Given the description of an element on the screen output the (x, y) to click on. 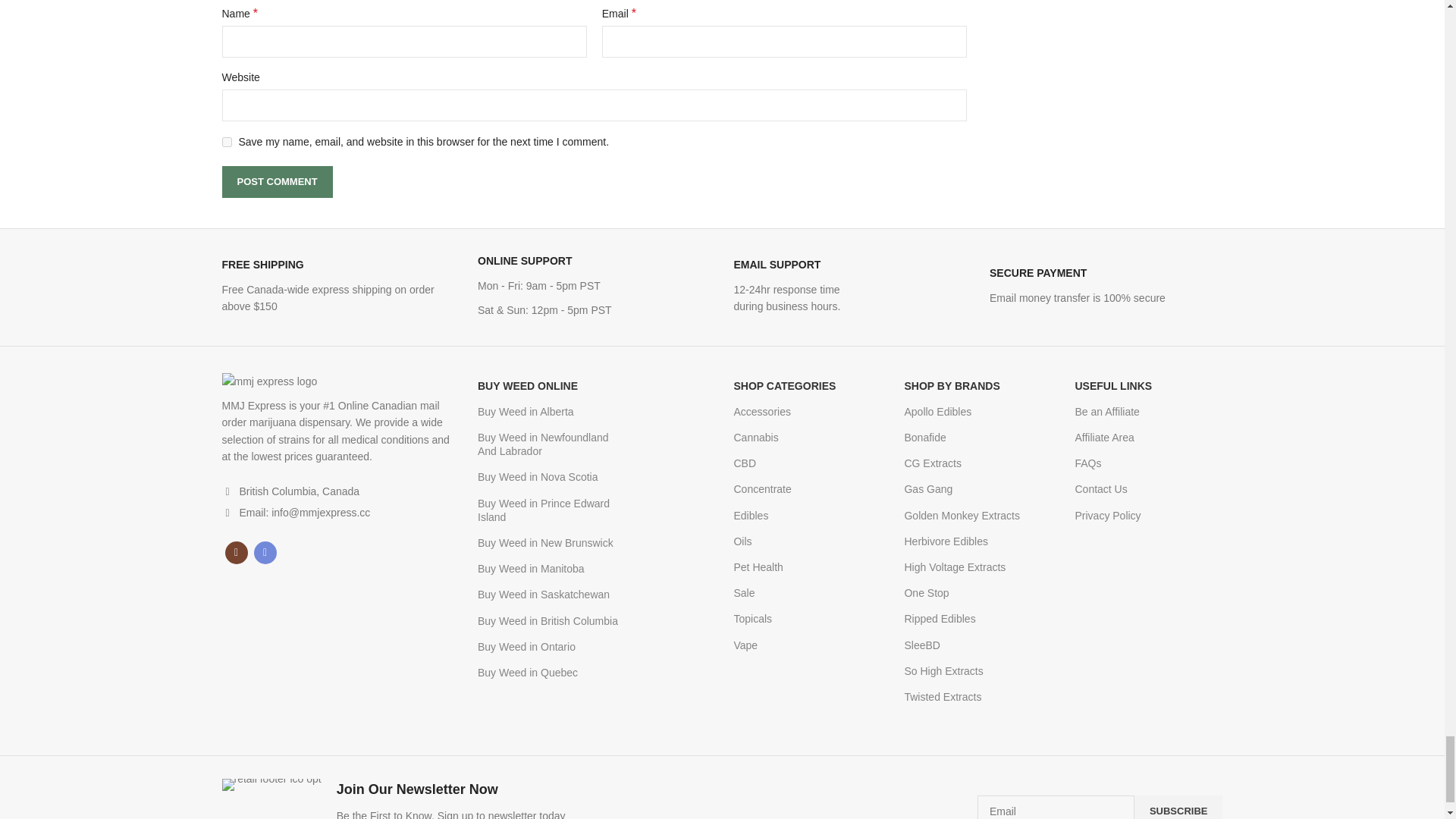
yes (226, 142)
Post Comment (276, 182)
